Given the description of an element on the screen output the (x, y) to click on. 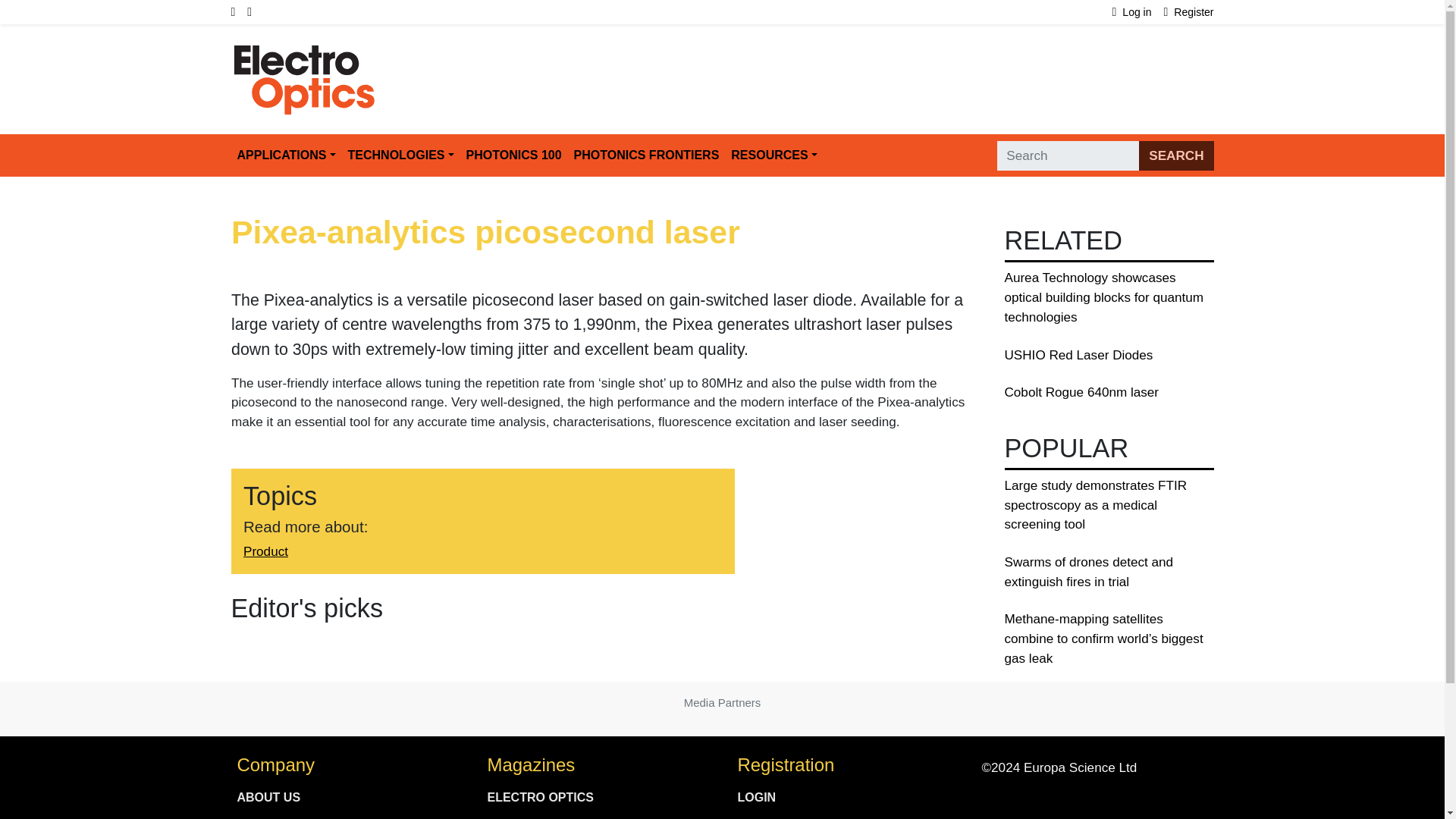
ADVERTISE (346, 816)
Product (264, 552)
Cobolt Rogue 640nm laser (1081, 391)
PHOTONICS FRONTIERS (646, 155)
ABOUT US (346, 797)
Log in (1137, 12)
Home (304, 51)
PHOTONICS 100 (513, 155)
